Given the description of an element on the screen output the (x, y) to click on. 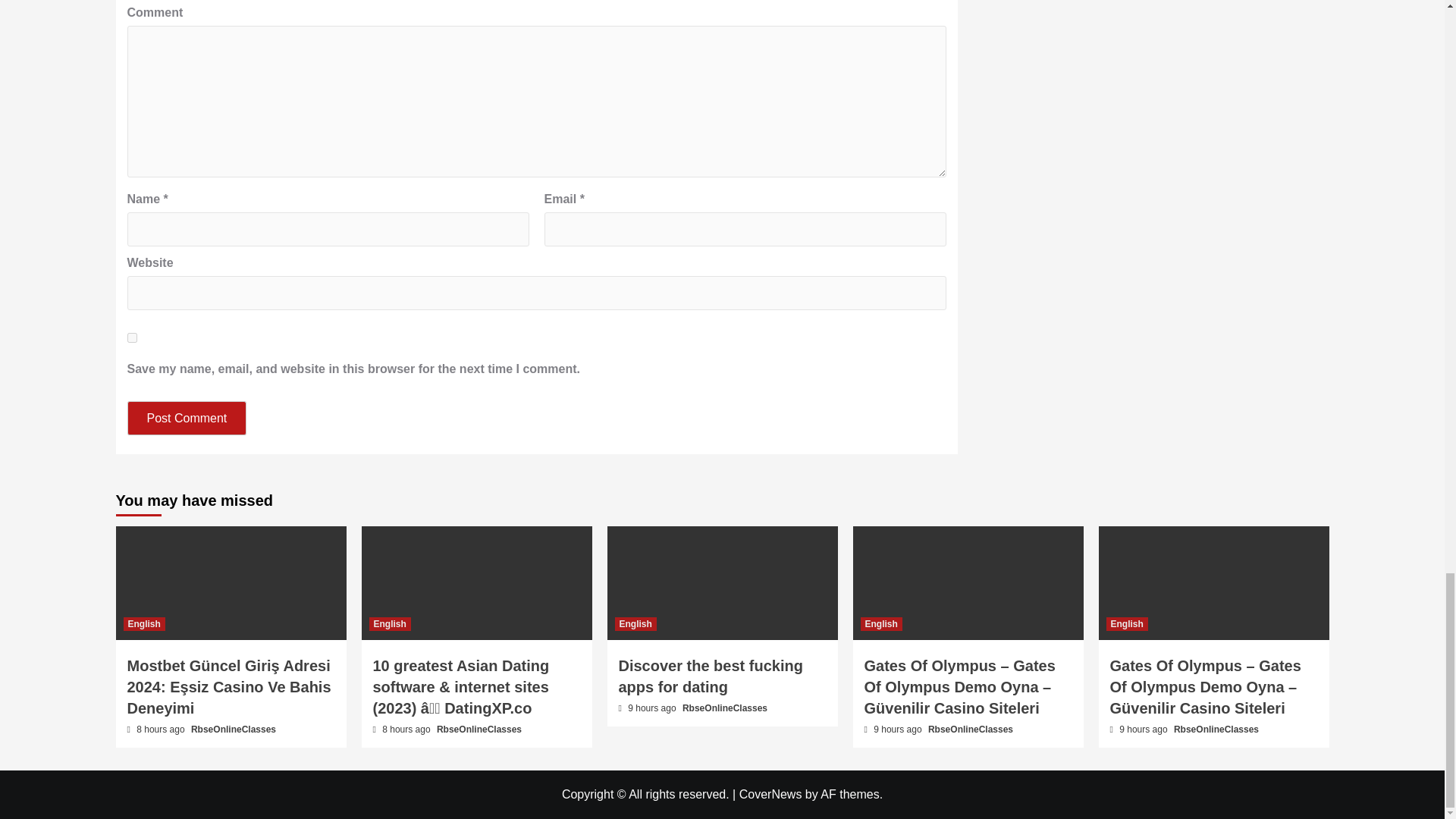
yes (132, 337)
Post Comment (187, 417)
Post Comment (187, 417)
